Given the description of an element on the screen output the (x, y) to click on. 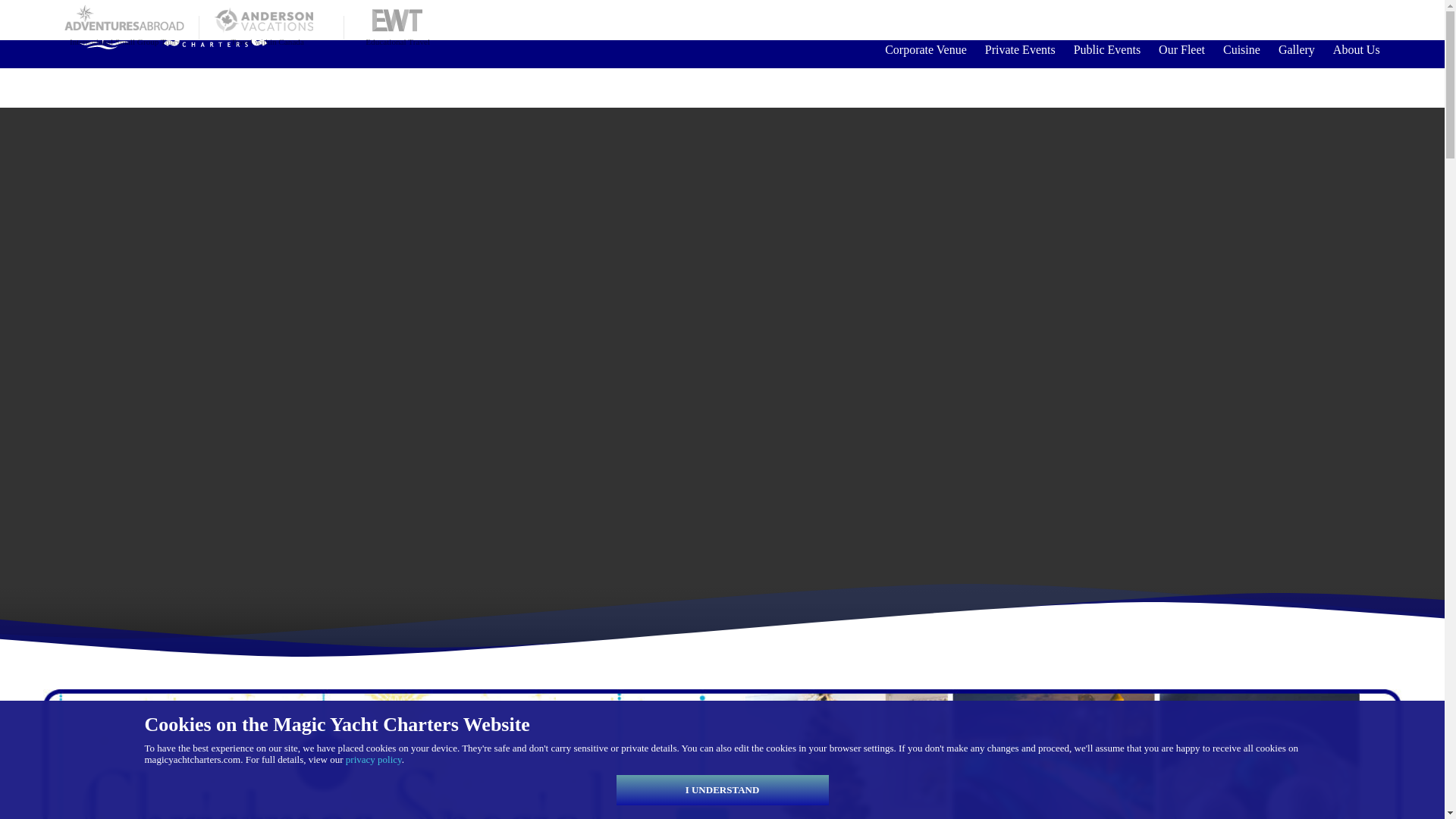
Corporate Venue (925, 48)
Gallery (1296, 48)
Our Fleet (1182, 48)
Cuisine (1241, 48)
About Us (1351, 48)
Corporate Venue (925, 48)
Public Events (1107, 48)
Private Events (1019, 48)
PLAN YOUR EVENT (1309, 19)
Public Events (1107, 48)
